Given the description of an element on the screen output the (x, y) to click on. 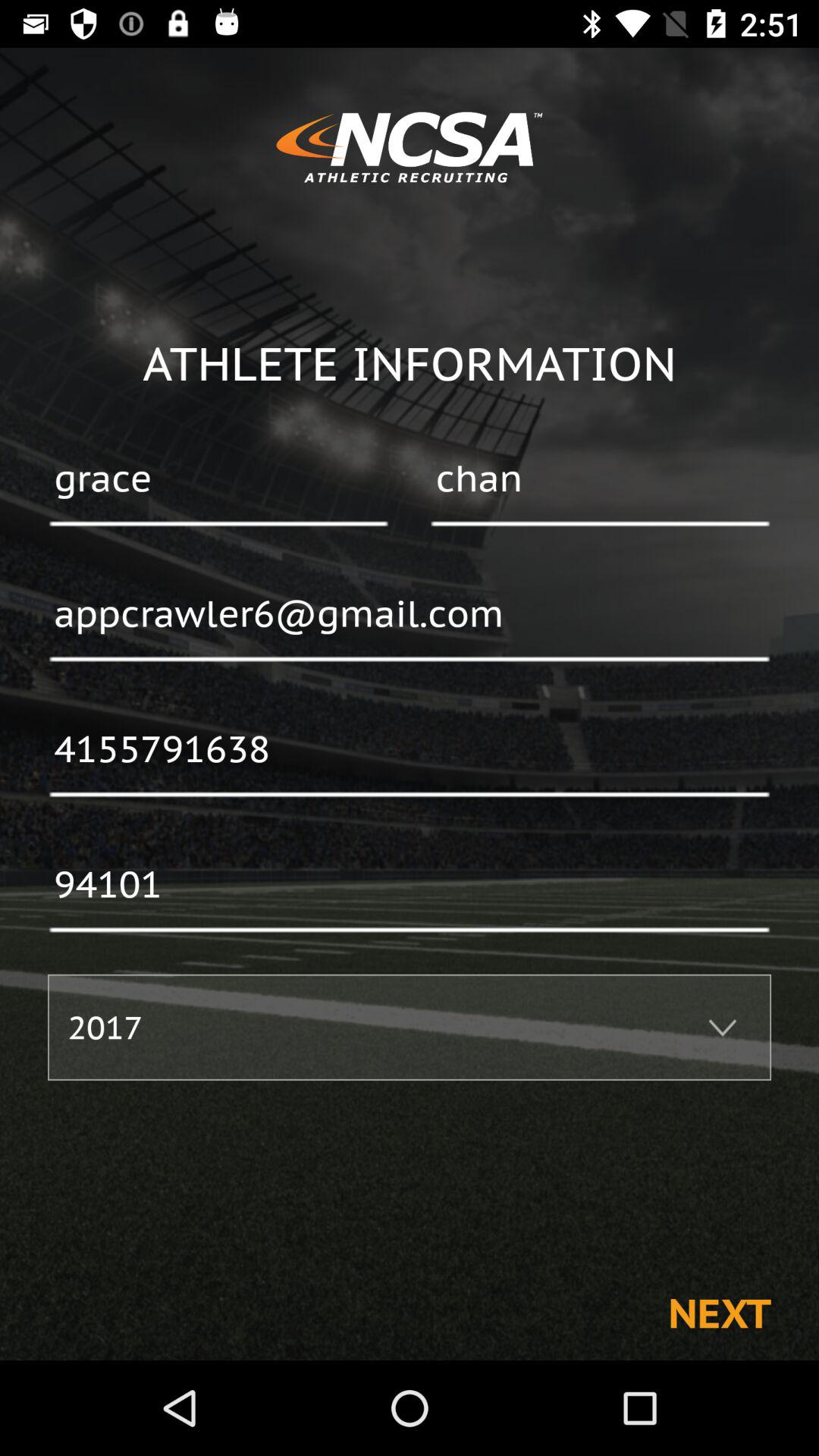
swipe until the 94101 (409, 885)
